Given the description of an element on the screen output the (x, y) to click on. 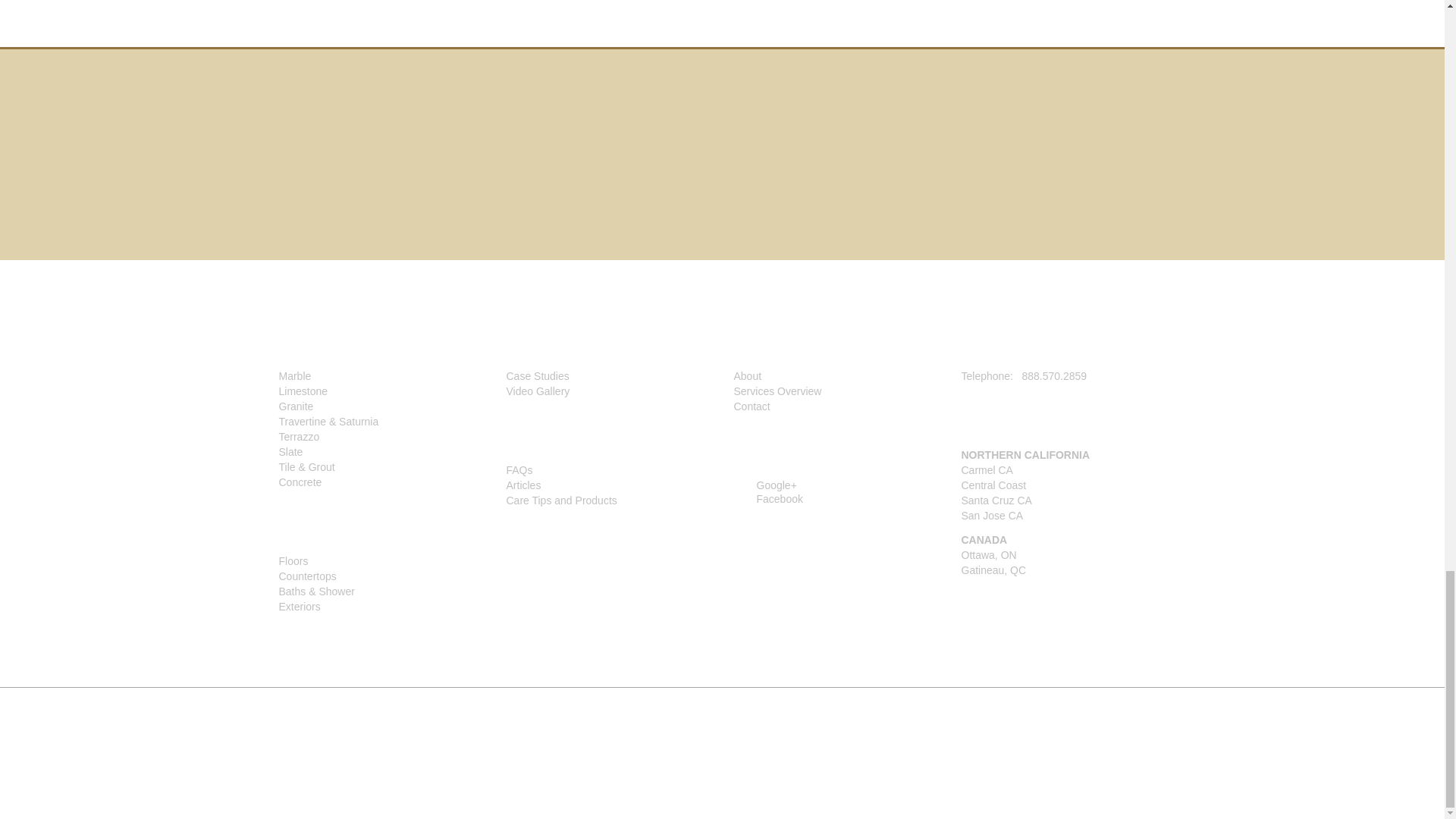
Certified SafeandCompliant.net Company. (796, 168)
Facebook (768, 499)
Surface Care PRO Partner. Click to verify. (663, 164)
